Given the description of an element on the screen output the (x, y) to click on. 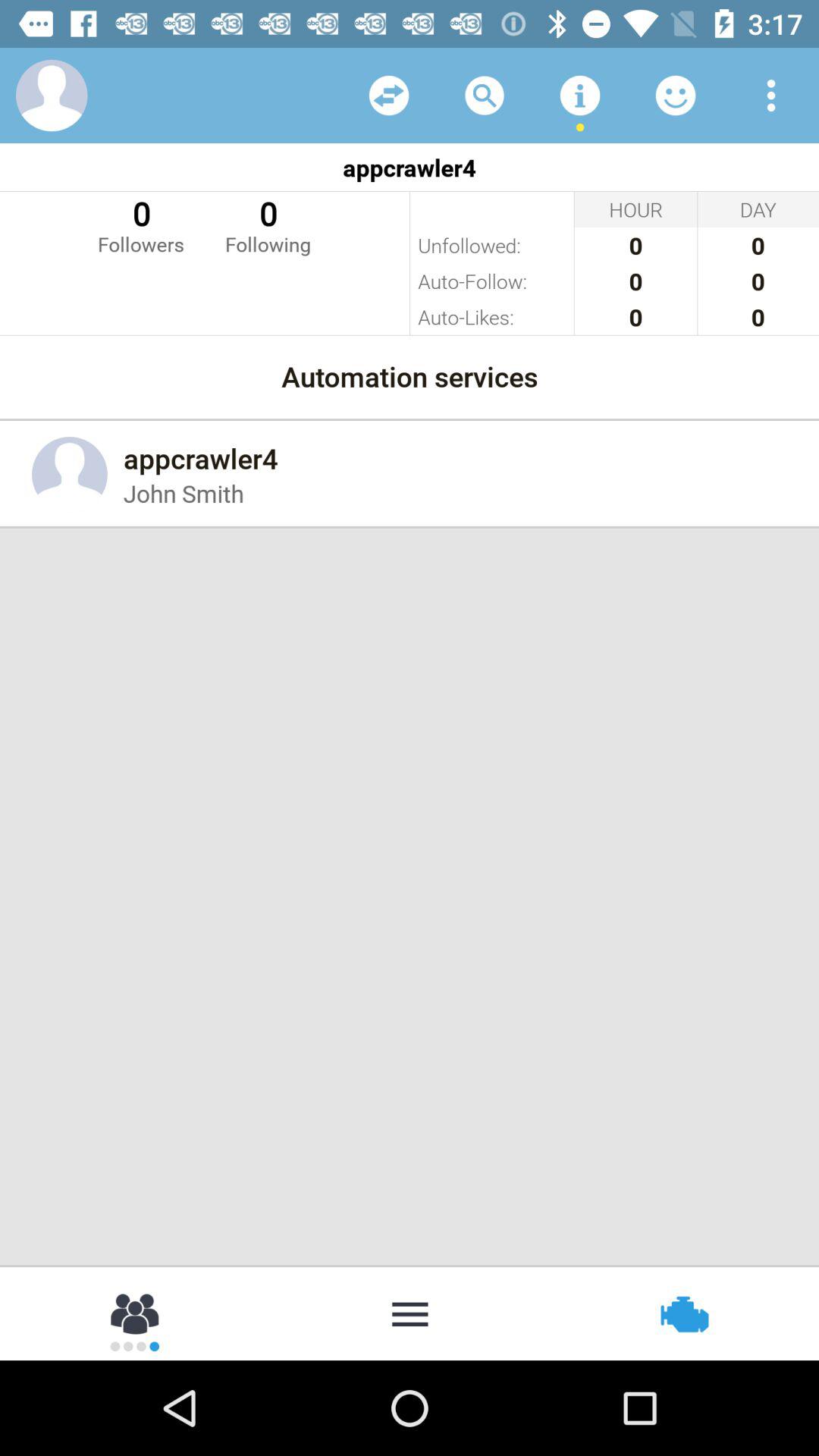
search a name (484, 95)
